Given the description of an element on the screen output the (x, y) to click on. 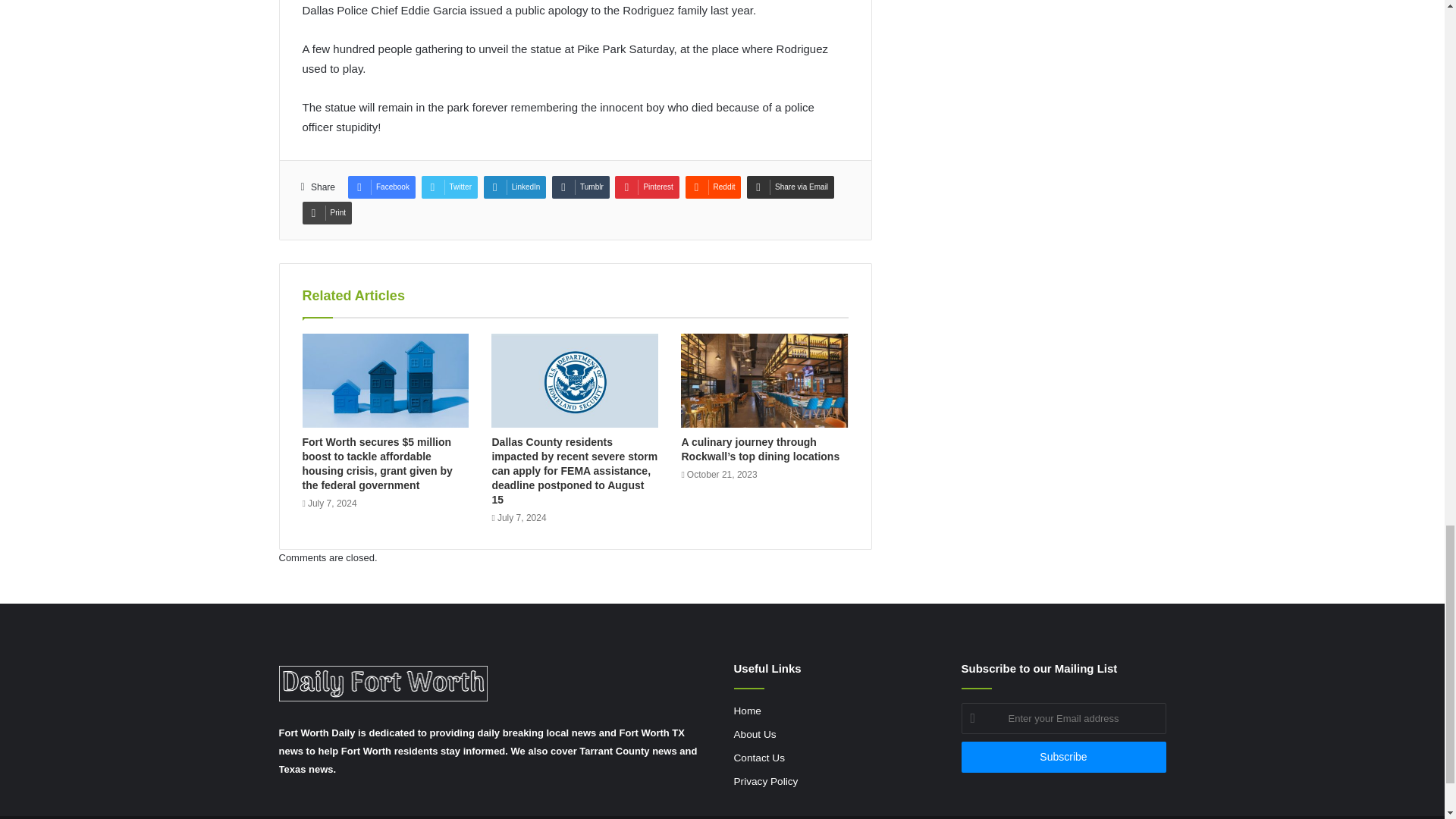
Share via Email (790, 187)
Twitter (449, 187)
Reddit (713, 187)
Facebook (380, 187)
Tumblr (580, 187)
Pinterest (646, 187)
LinkedIn (515, 187)
Print (326, 212)
Subscribe (1063, 757)
